Given the description of an element on the screen output the (x, y) to click on. 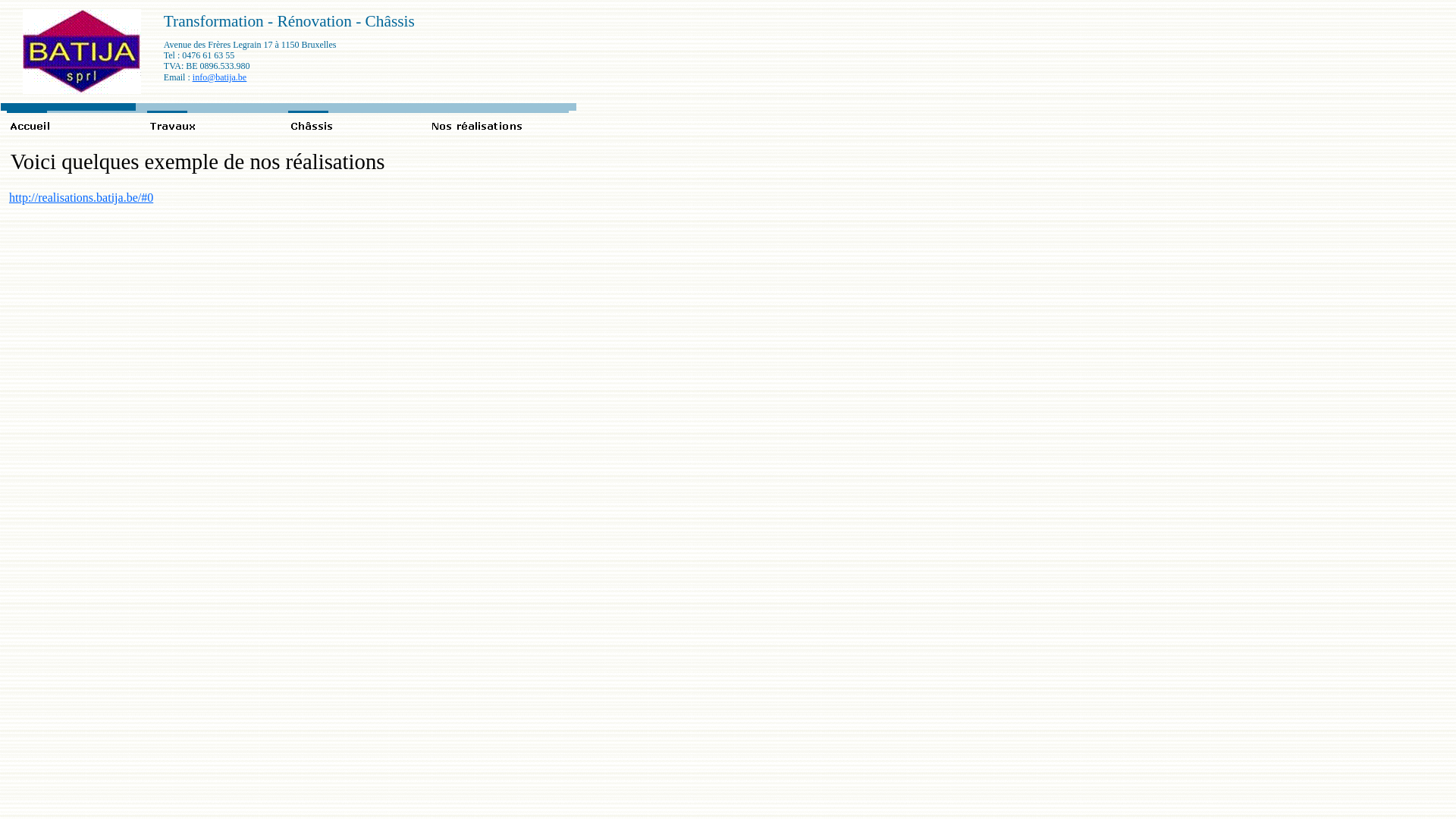
http://realisations.batija.be/#0 Element type: text (81, 197)
info@batija.be Element type: text (219, 77)
